Given the description of an element on the screen output the (x, y) to click on. 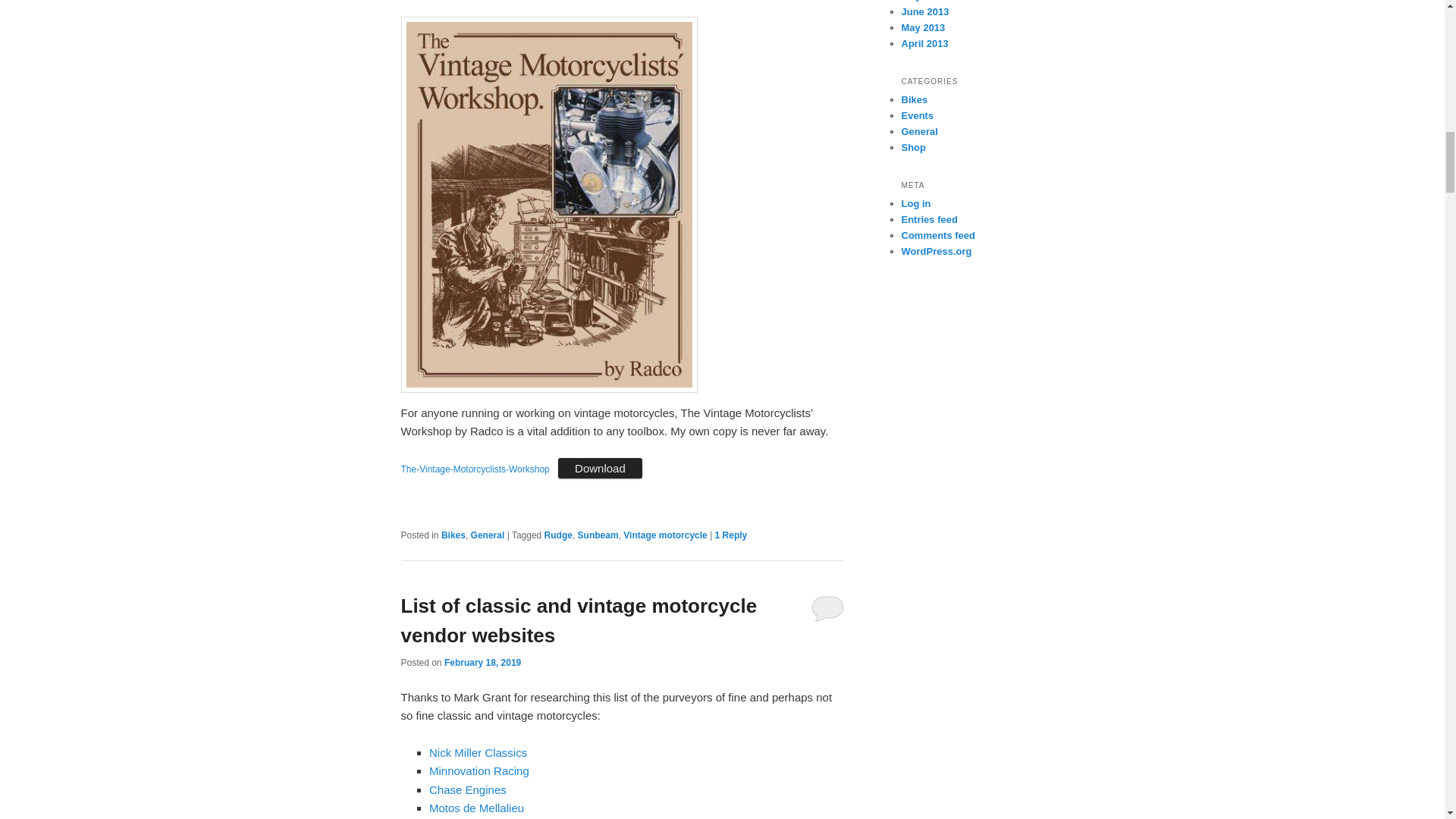
February 18, 2019 (482, 662)
Vintage motorcycle (664, 534)
Nick Miller Classics (478, 752)
Rudge (558, 534)
List of classic and vintage motorcycle vendor websites (578, 620)
1 Reply (731, 534)
The-Vintage-Motorcyclists-Workshop (474, 469)
Bikes (453, 534)
General (487, 534)
Sunbeam (598, 534)
7:40 pm (482, 662)
Download (599, 467)
Minnovation Racing (479, 770)
